Given the description of an element on the screen output the (x, y) to click on. 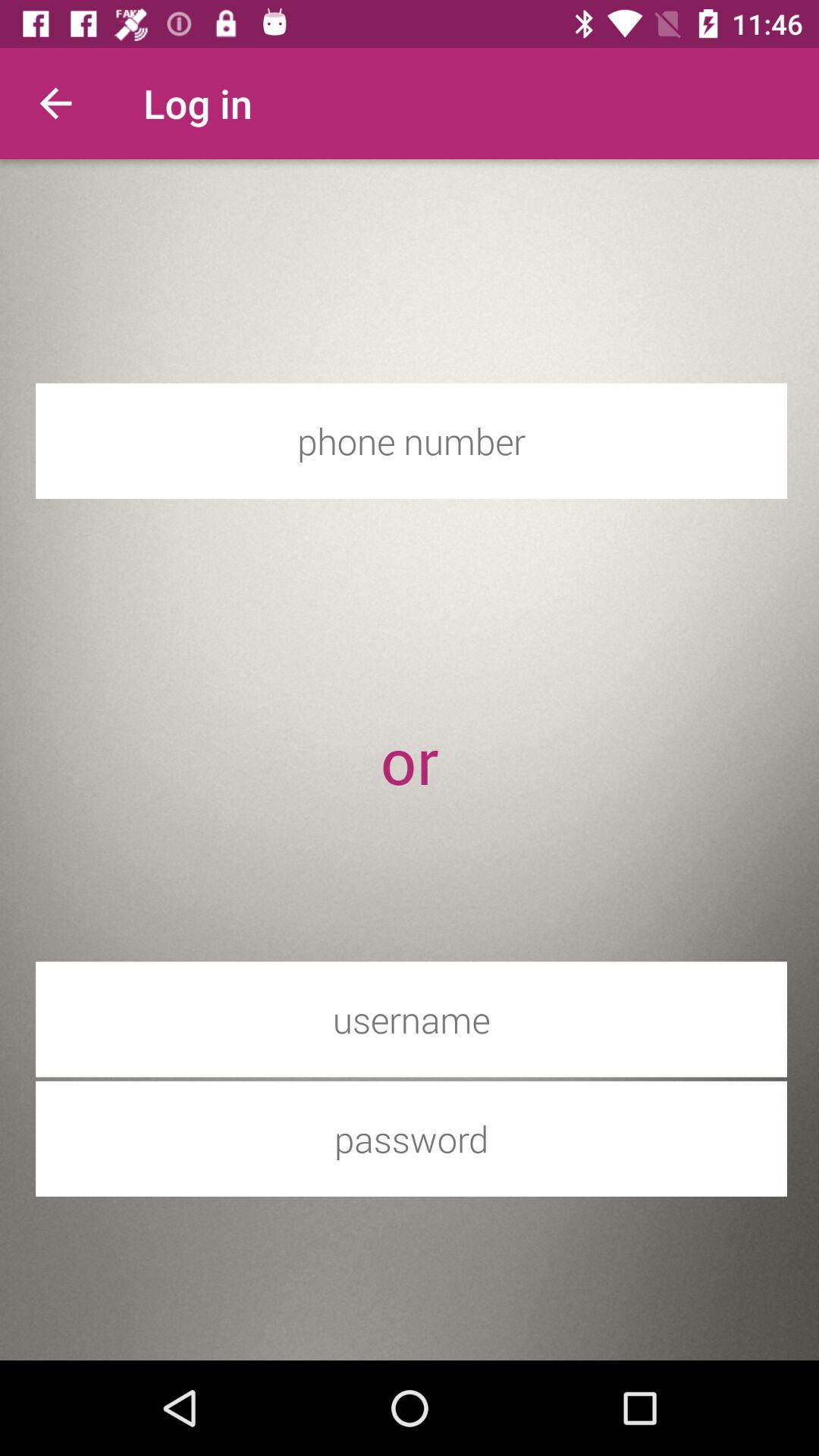
enter using phone number (411, 440)
